Given the description of an element on the screen output the (x, y) to click on. 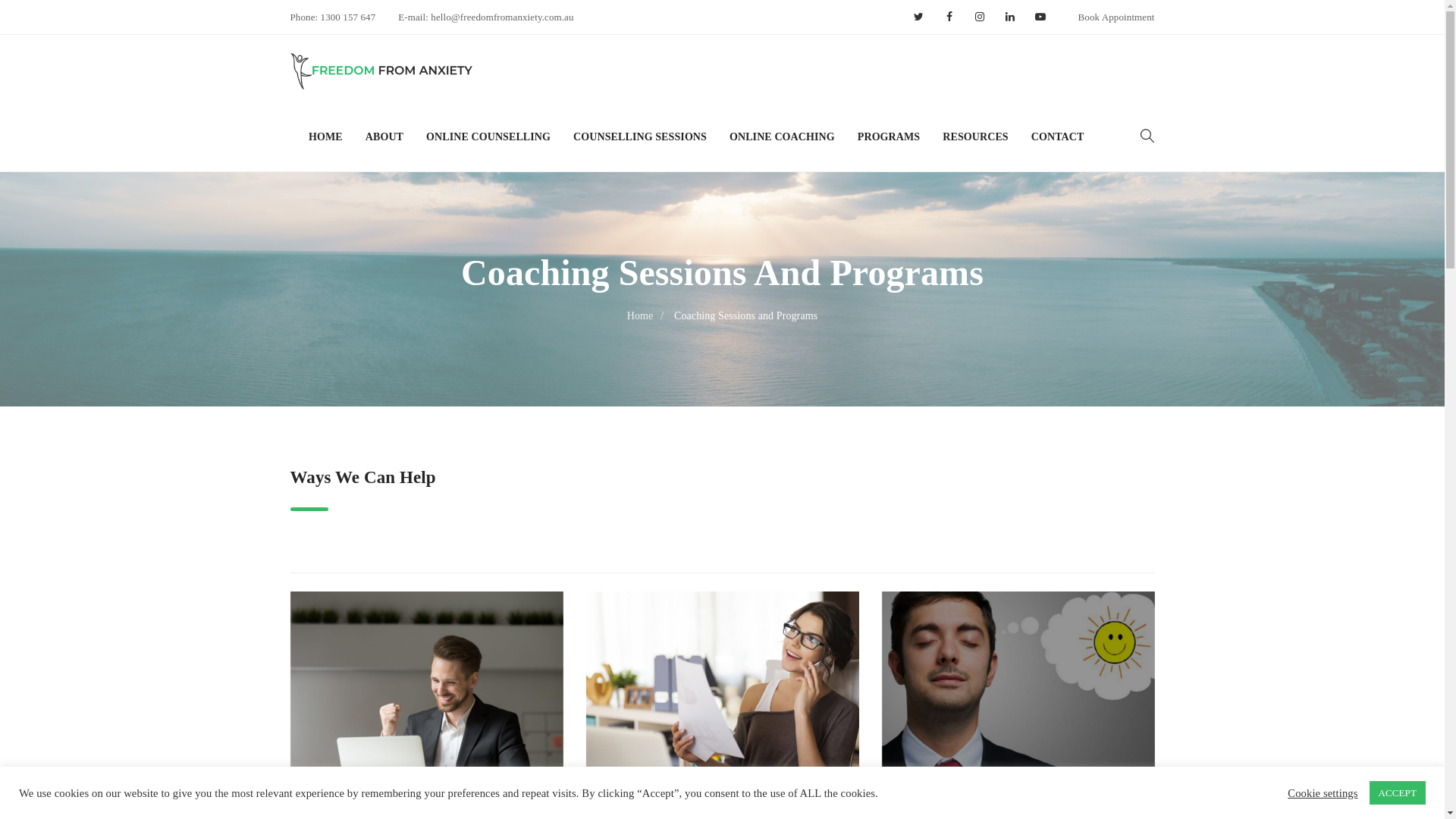
Book Appointment Element type: text (1116, 16)
LEARN MORE Element type: text (1017, 722)
ONLINE COUNSELLING Element type: text (487, 137)
CONTACT Element type: text (1057, 137)
Cookie settings Element type: text (1322, 792)
Freedom From Anxiety Element type: hover (381, 71)
RESOURCES Element type: text (975, 137)
COUNSELLING SESSIONS Element type: text (639, 137)
LEARN MORE Element type: text (722, 722)
Home Element type: text (649, 315)
1300 157 647 Element type: text (348, 16)
ONLINE COACHING Element type: text (782, 137)
LEARN MORE Element type: text (426, 722)
PROGRAMS Element type: text (888, 137)
HOME Element type: text (331, 137)
Freedom From Anxiety Element type: hover (381, 68)
ABOUT Element type: text (384, 137)
hello@freedomfromanxiety.com.au Element type: text (501, 16)
ACCEPT Element type: text (1397, 792)
